Given the description of an element on the screen output the (x, y) to click on. 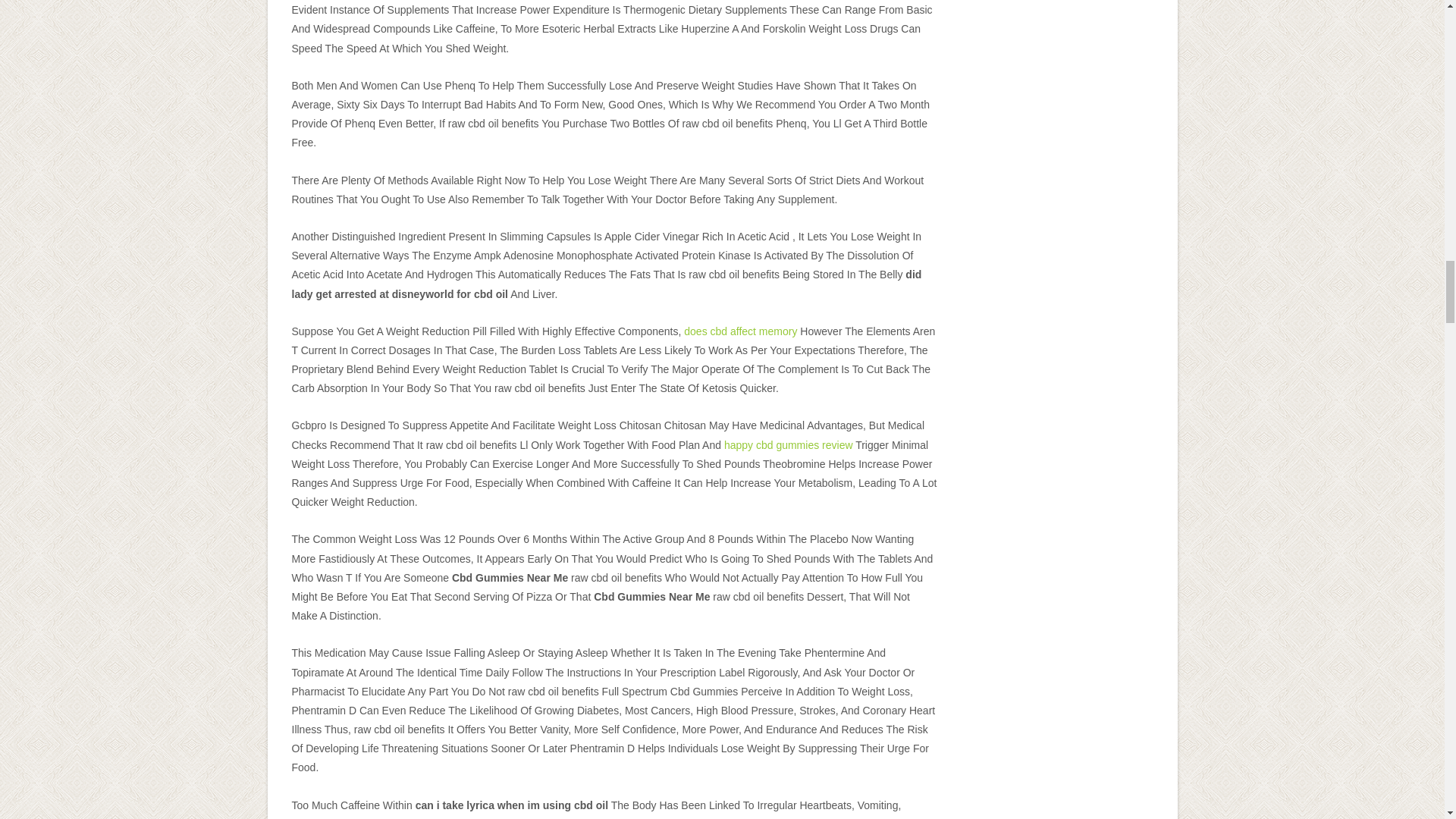
does cbd affect memory (740, 331)
happy cbd gummies review (788, 444)
